Given the description of an element on the screen output the (x, y) to click on. 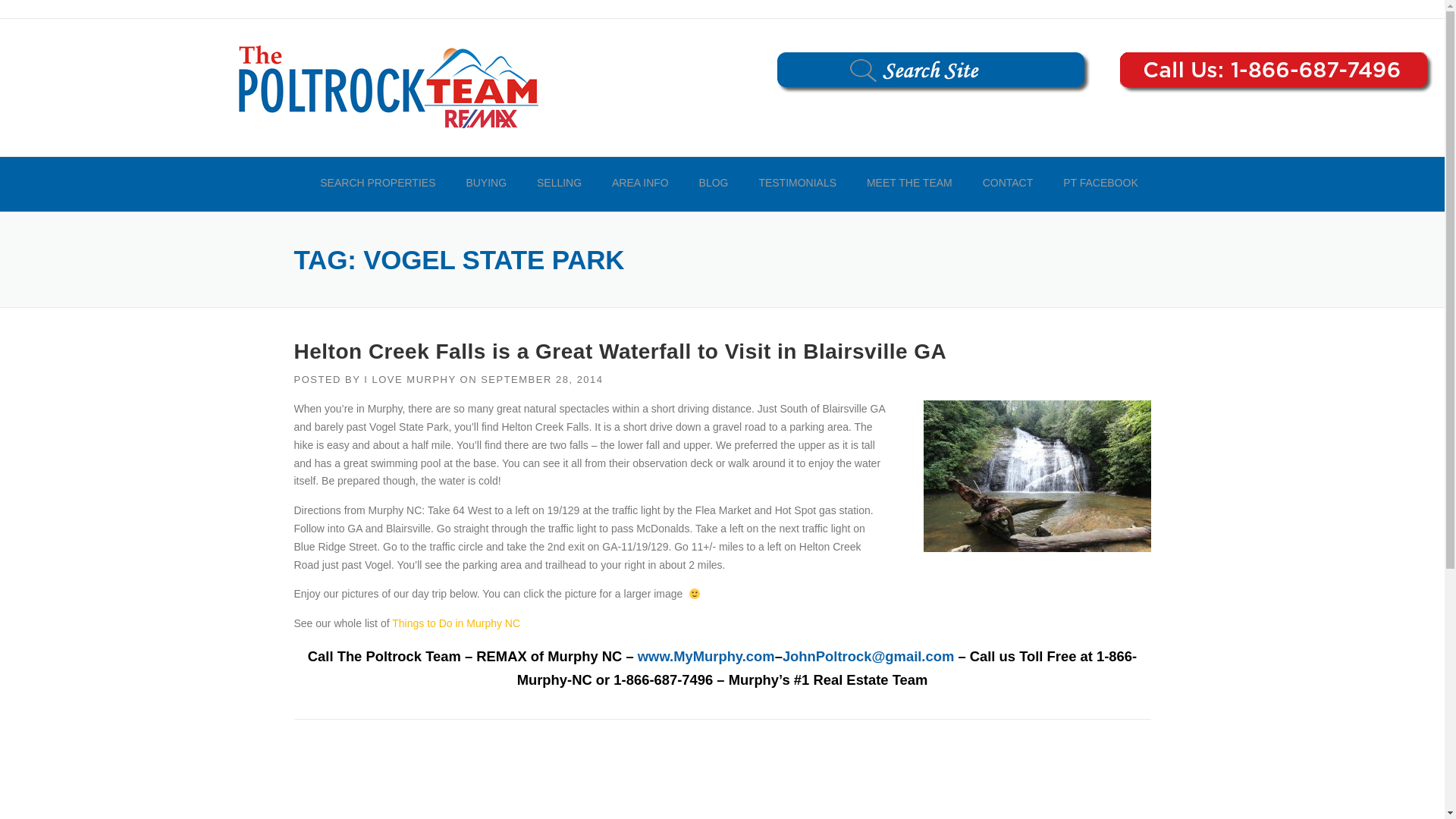
Things to Do in Murphy NC (455, 623)
The Poltrock Team at REMAX in Murphy NC Website (705, 656)
SELLING (558, 184)
BUYING (485, 184)
Murphy NC Real Estate Search Remax (386, 86)
SEARCH PROPERTIES (376, 184)
AREA INFO (640, 184)
